Given the description of an element on the screen output the (x, y) to click on. 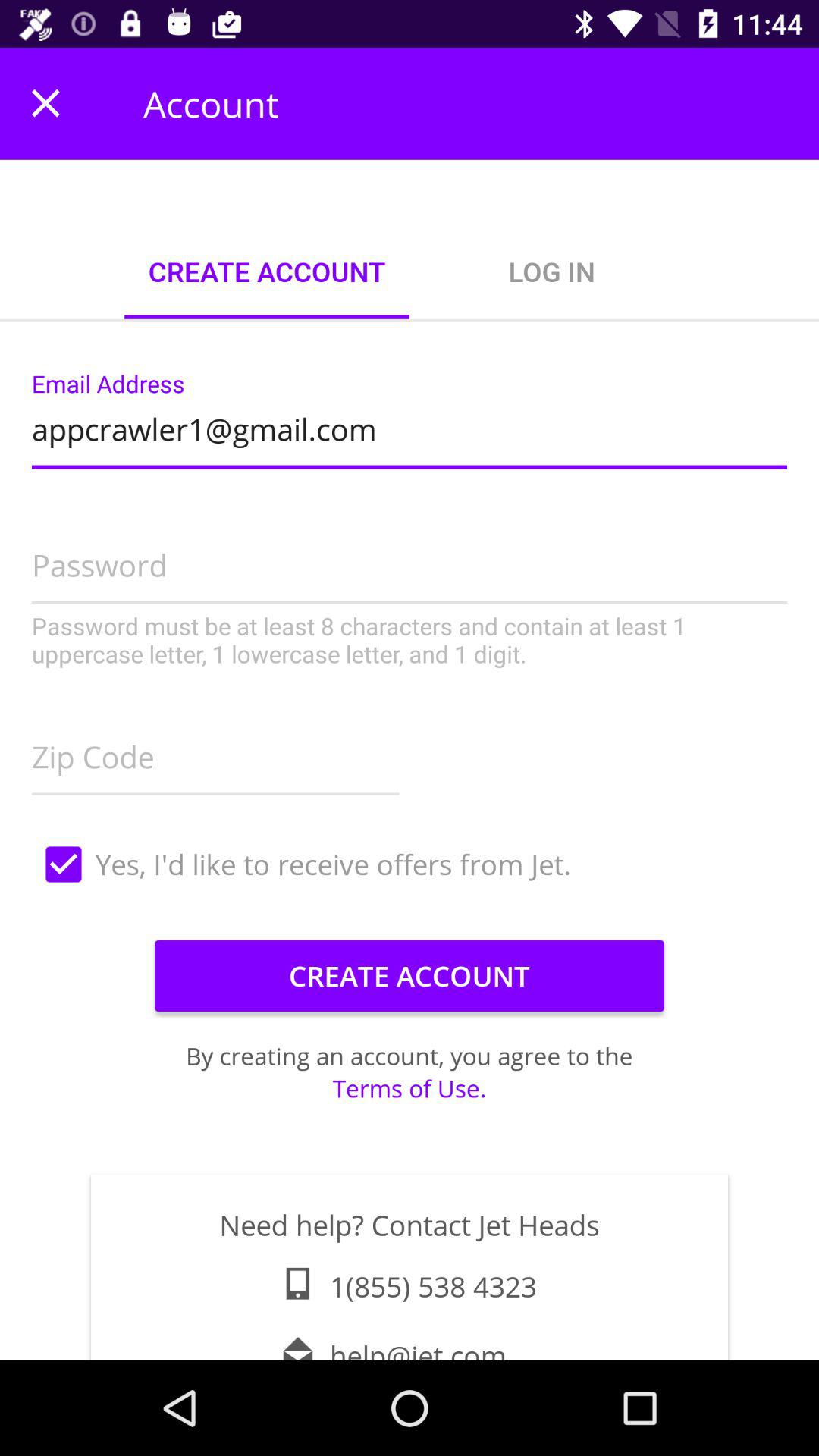
tap yes i d item (409, 864)
